Given the description of an element on the screen output the (x, y) to click on. 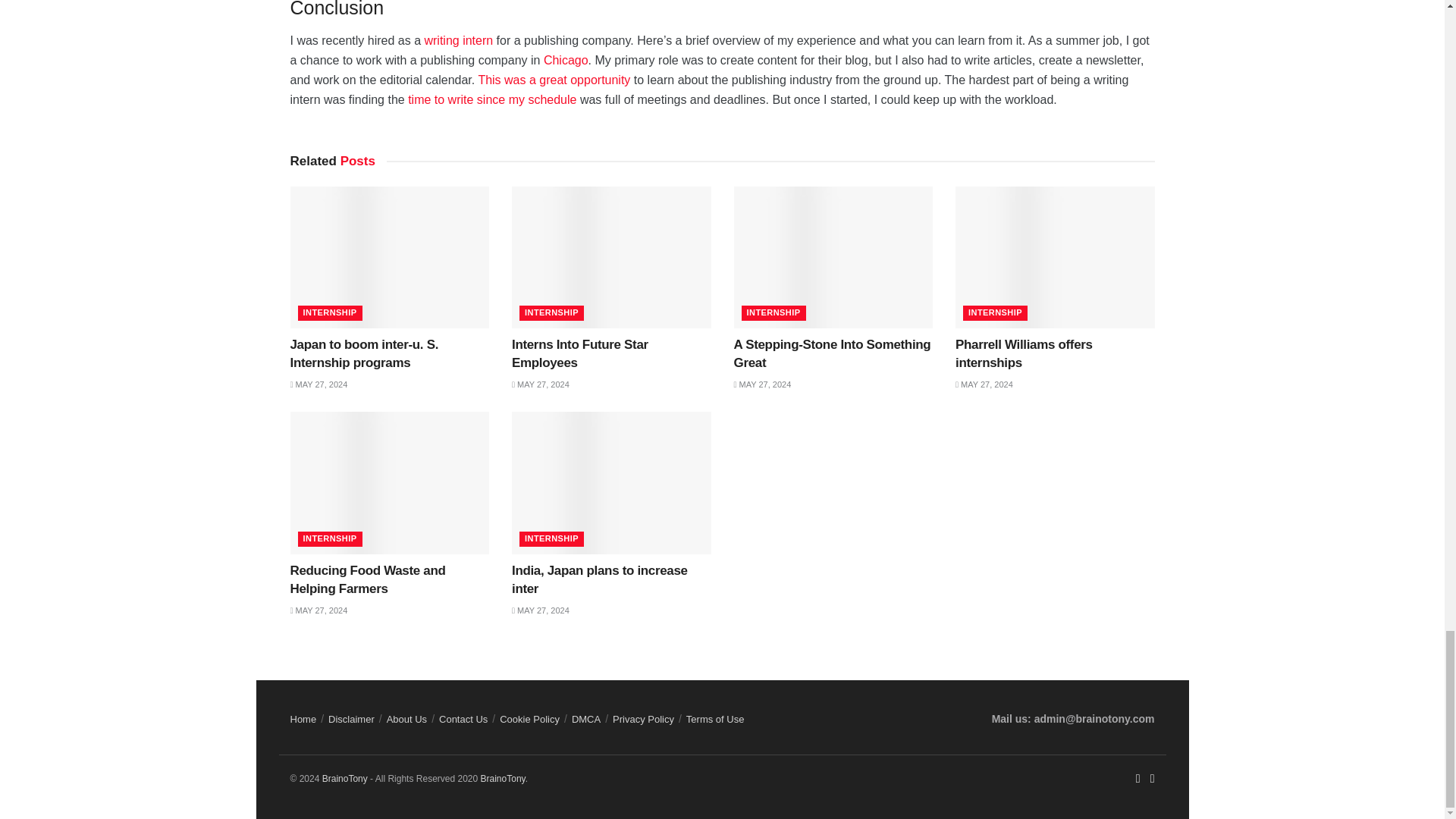
How to Make Money with the University Center of Chicago (565, 60)
